Given the description of an element on the screen output the (x, y) to click on. 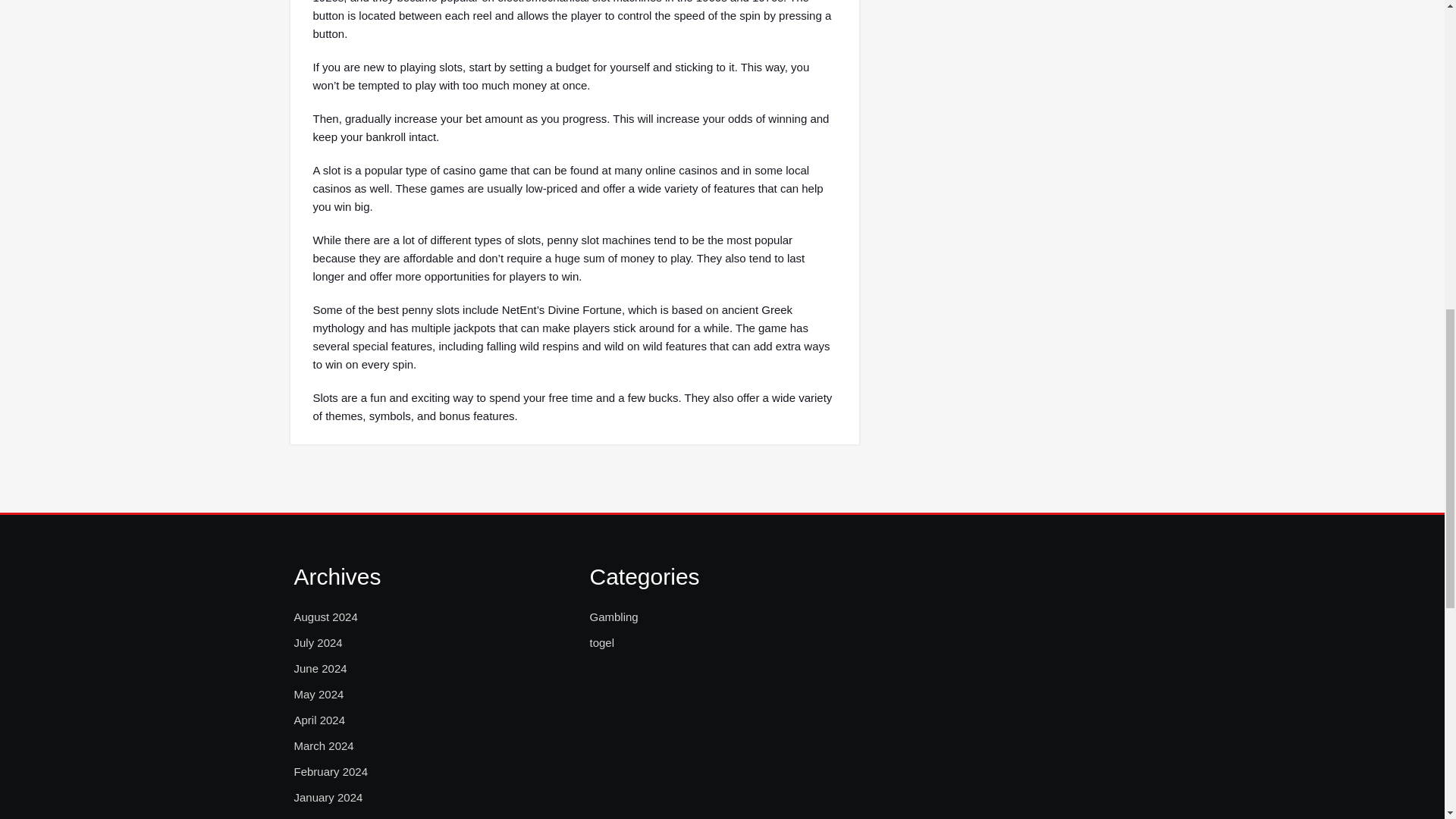
March 2024 (323, 746)
August 2024 (326, 617)
April 2024 (320, 720)
February 2024 (331, 771)
December 2023 (334, 816)
May 2024 (318, 694)
July 2024 (318, 642)
January 2024 (328, 797)
June 2024 (320, 669)
